Given the description of an element on the screen output the (x, y) to click on. 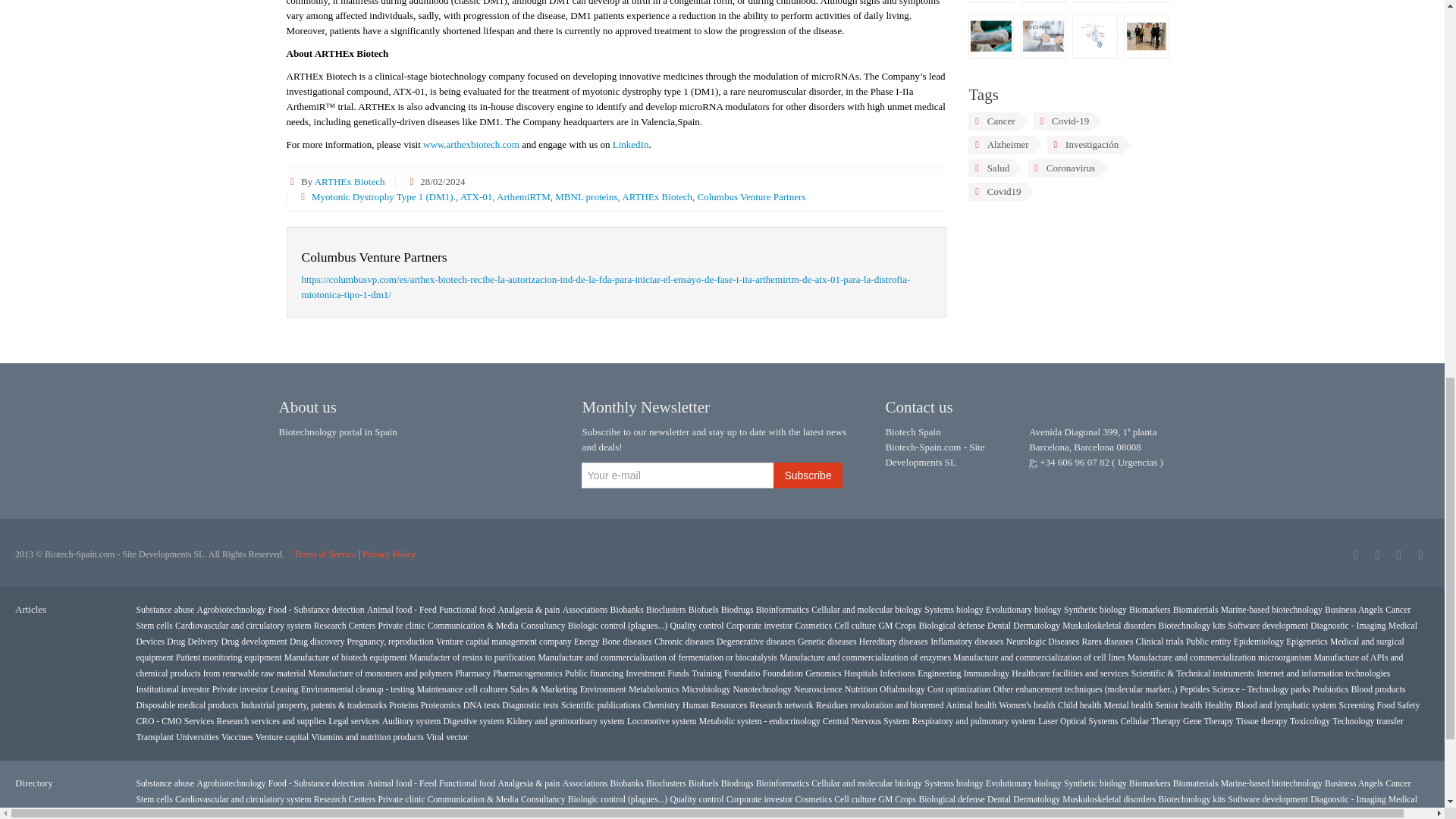
Columbus Venture Partners (751, 196)
MBNL proteins (585, 196)
ArthemiRTM (523, 196)
ARTHEx Biotech (657, 196)
LinkedIn (630, 143)
ARTHEx Biotech (349, 181)
ATX-01 (476, 196)
www.arthexbiotech.com (471, 143)
